Given the description of an element on the screen output the (x, y) to click on. 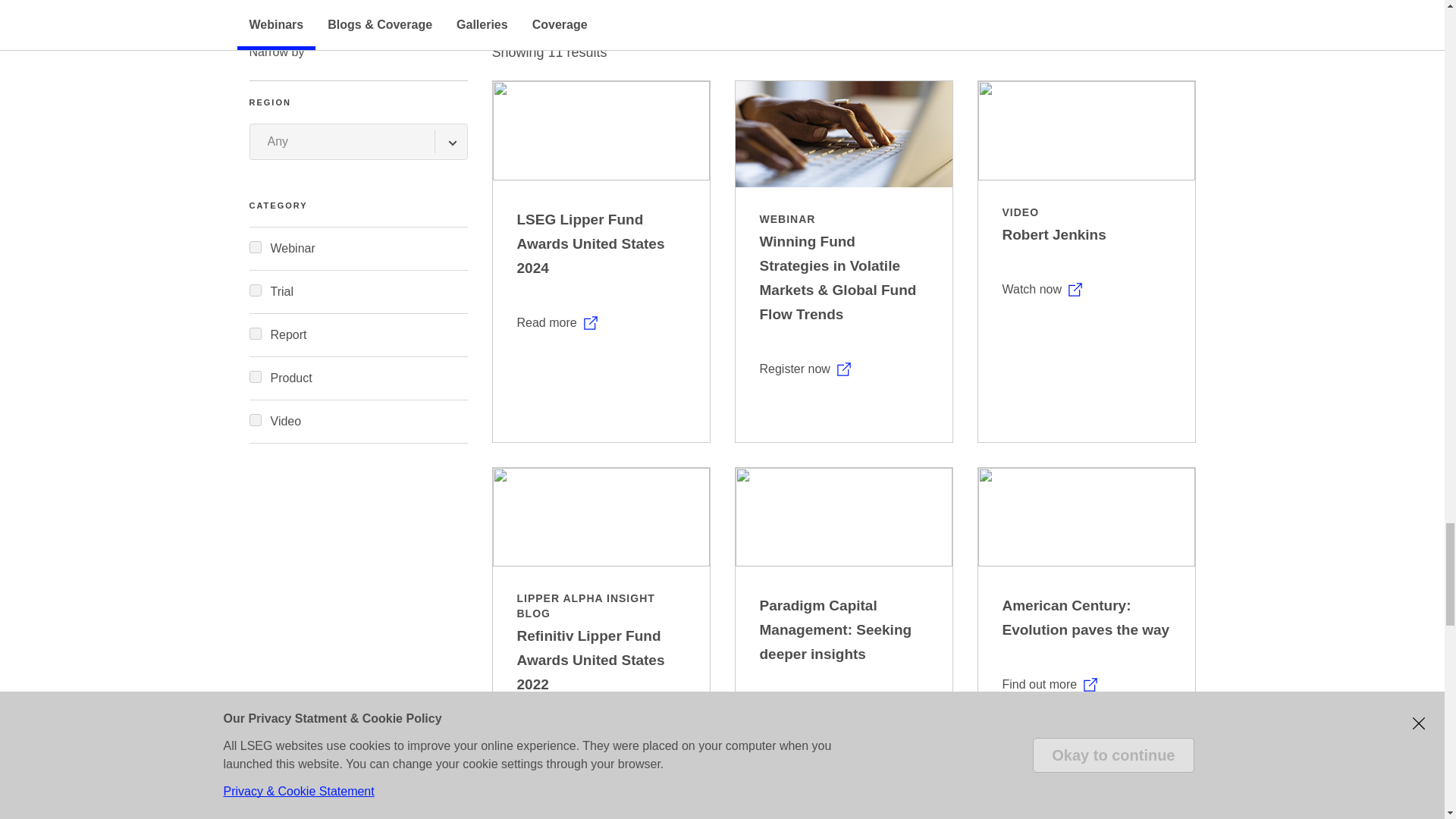
1 (254, 419)
1 (254, 290)
1 (254, 333)
1 (254, 246)
1 (254, 377)
